Given the description of an element on the screen output the (x, y) to click on. 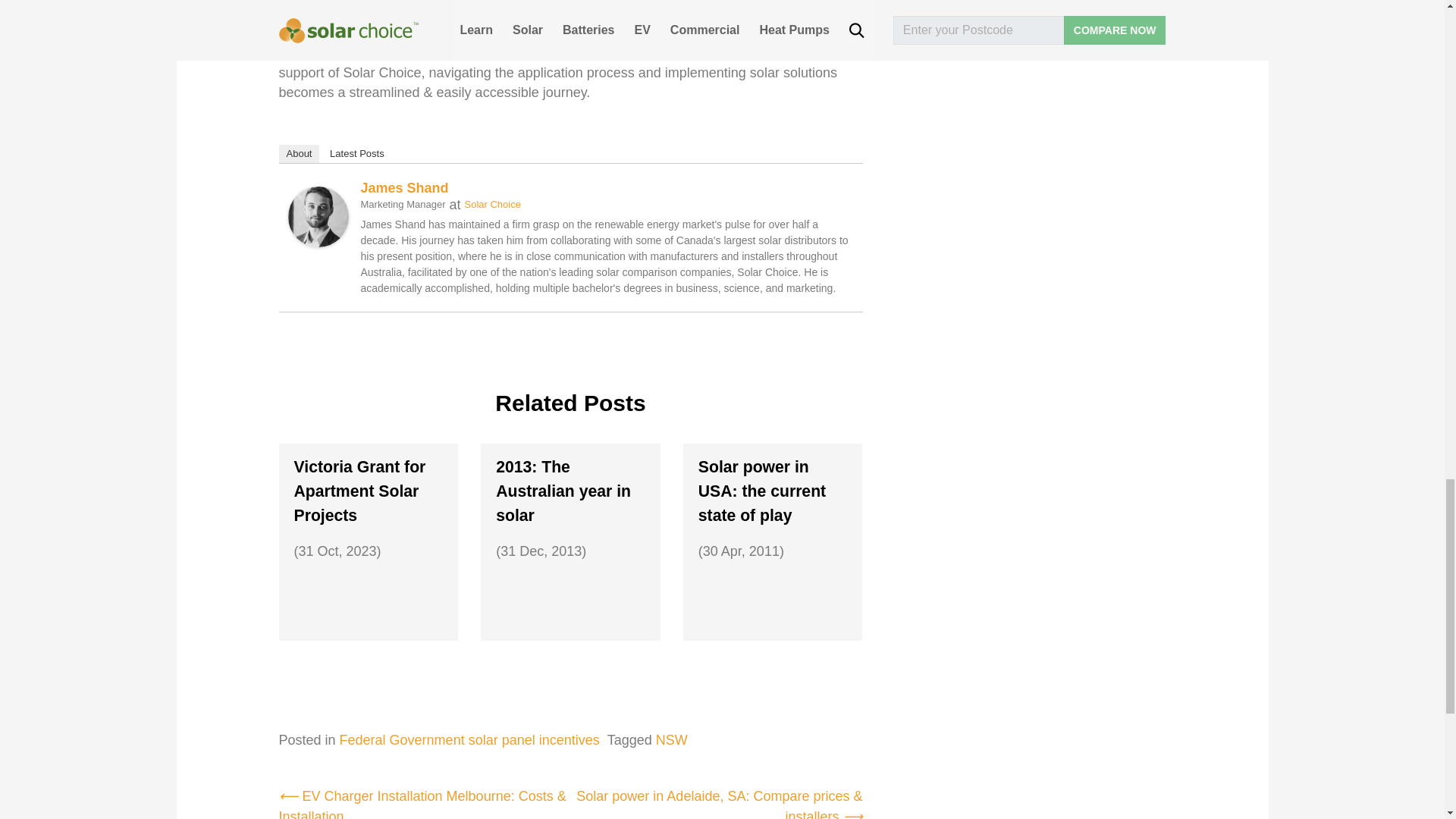
2013: The Australian year in solar (570, 490)
Solar power in USA: the current state of play (772, 490)
James Shand (318, 215)
Victoria Grant for Apartment Solar Projects (369, 490)
